Given the description of an element on the screen output the (x, y) to click on. 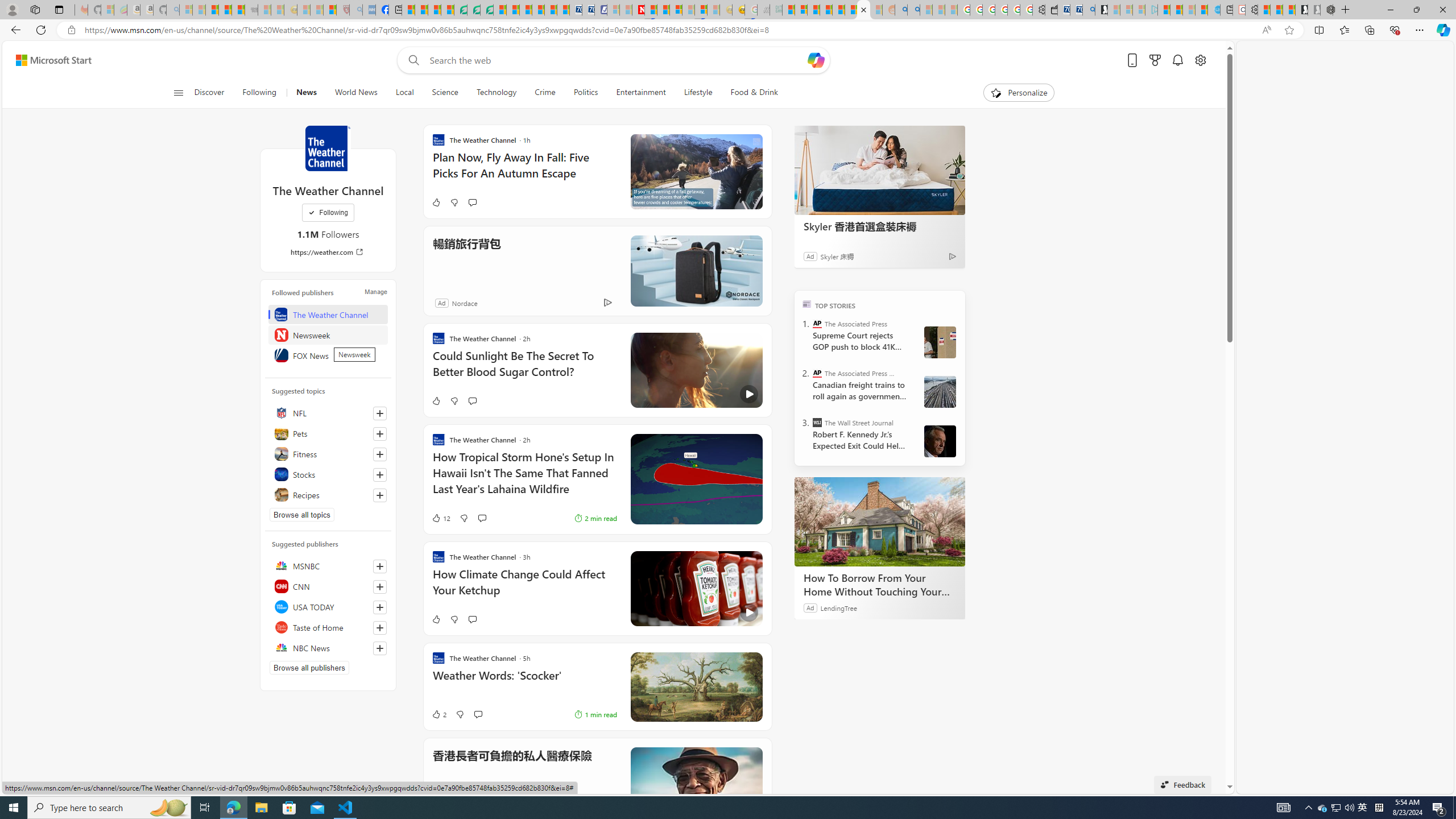
How Climate Change Could Affect Your Ketchup (524, 587)
Microsoft Word - consumer-privacy address update 2.2021 (486, 9)
https://weather.com (327, 251)
The Weather Channel (327, 314)
NBC News (327, 647)
Terms of Use Agreement (473, 9)
